Given the description of an element on the screen output the (x, y) to click on. 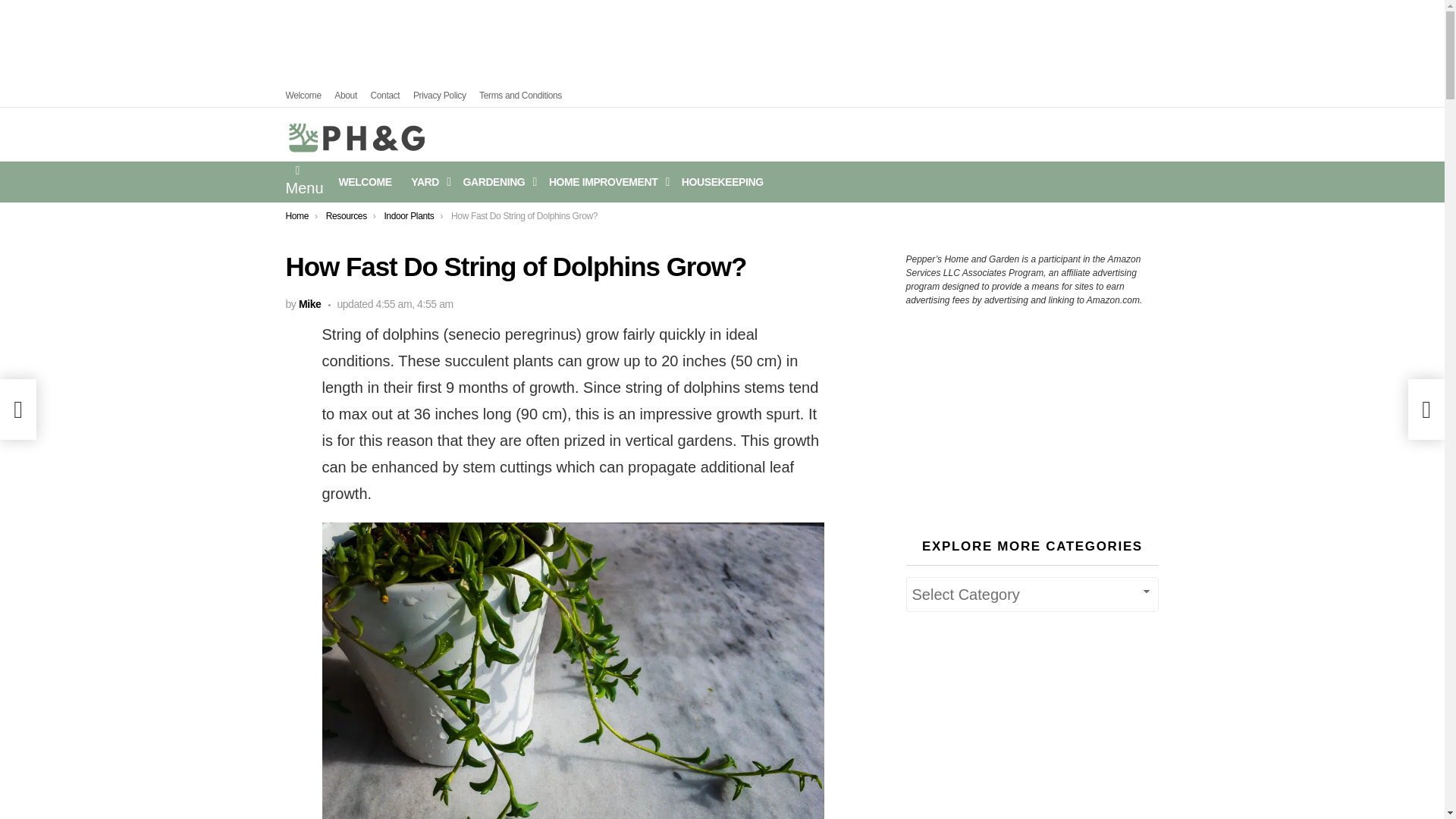
Posts by Mike (309, 304)
WELCOME (364, 181)
Privacy Policy (439, 95)
GARDENING (496, 181)
YARD (427, 181)
Menu (304, 181)
Contact (383, 95)
About (345, 95)
Welcome (302, 95)
Terms and Conditions (520, 95)
